Given the description of an element on the screen output the (x, y) to click on. 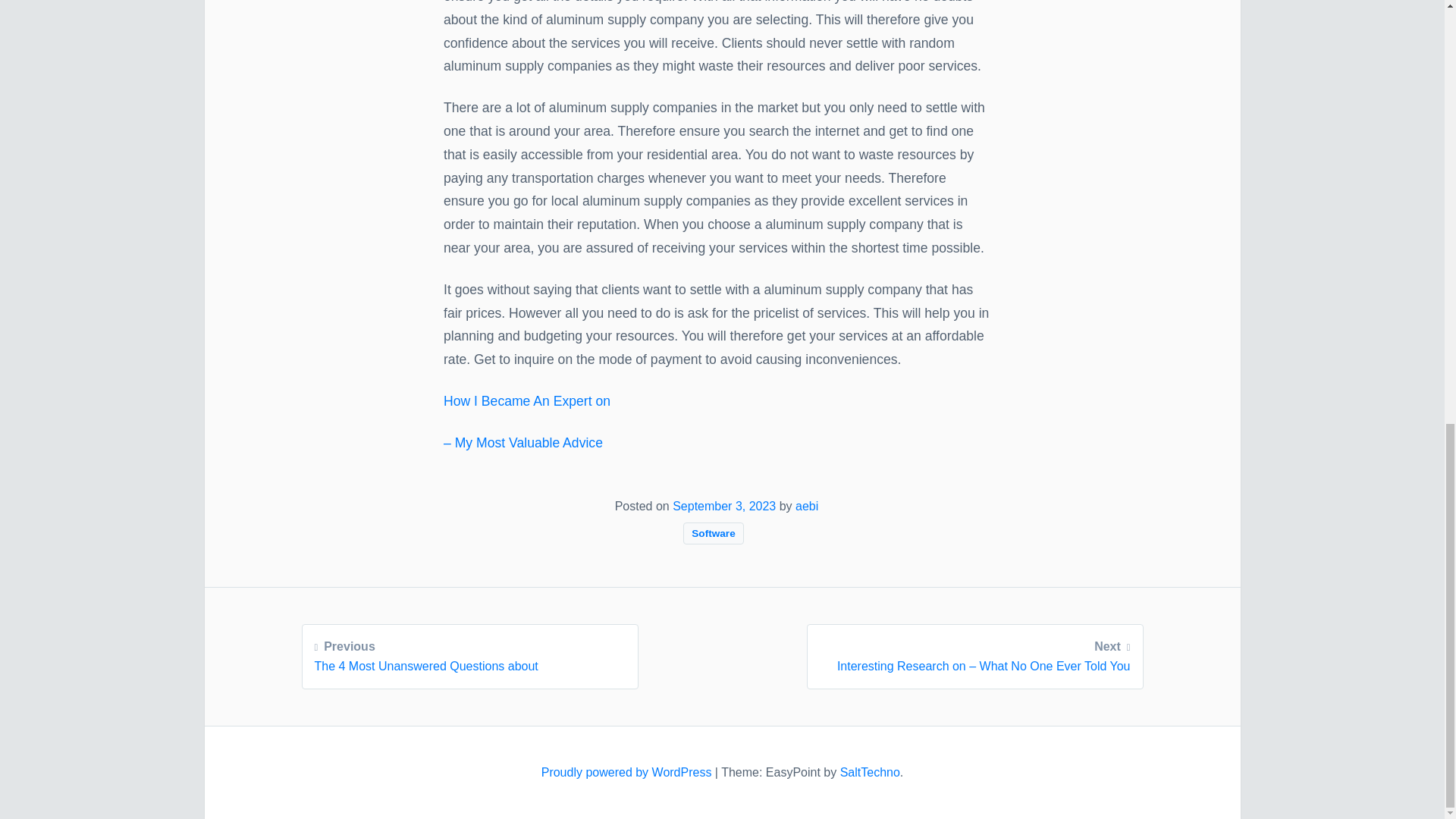
SaltTechno (869, 771)
How I Became An Expert on (527, 400)
Software (713, 532)
aebi (806, 505)
Proudly powered by WordPress (469, 654)
September 3, 2023 (627, 771)
